Given the description of an element on the screen output the (x, y) to click on. 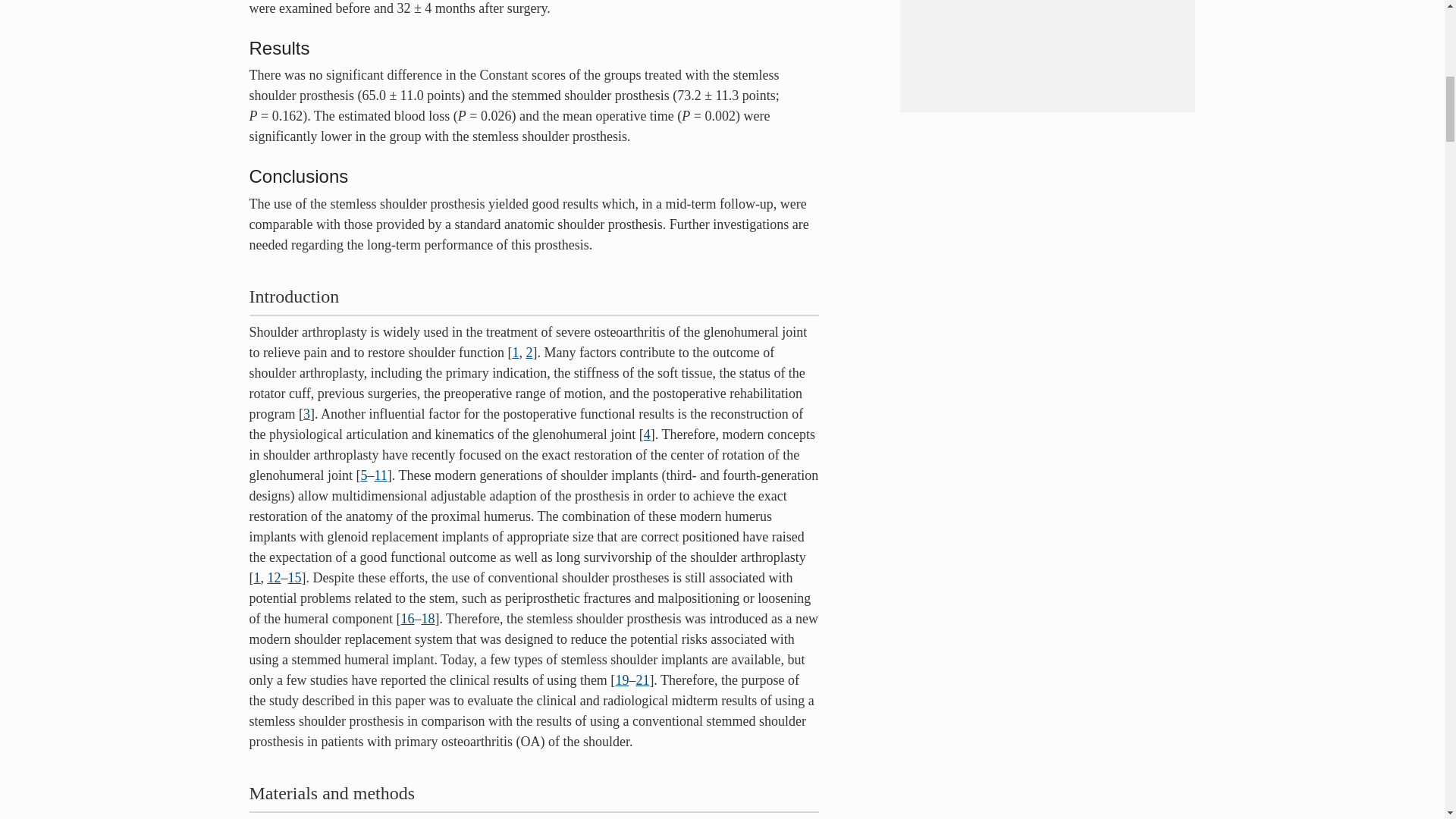
2 (528, 352)
4 (646, 434)
12 (273, 577)
16 (406, 618)
1 (256, 577)
1 (515, 352)
21 (641, 679)
15 (294, 577)
5 (362, 475)
3 (306, 413)
19 (621, 679)
18 (426, 618)
11 (380, 475)
